Given the description of an element on the screen output the (x, y) to click on. 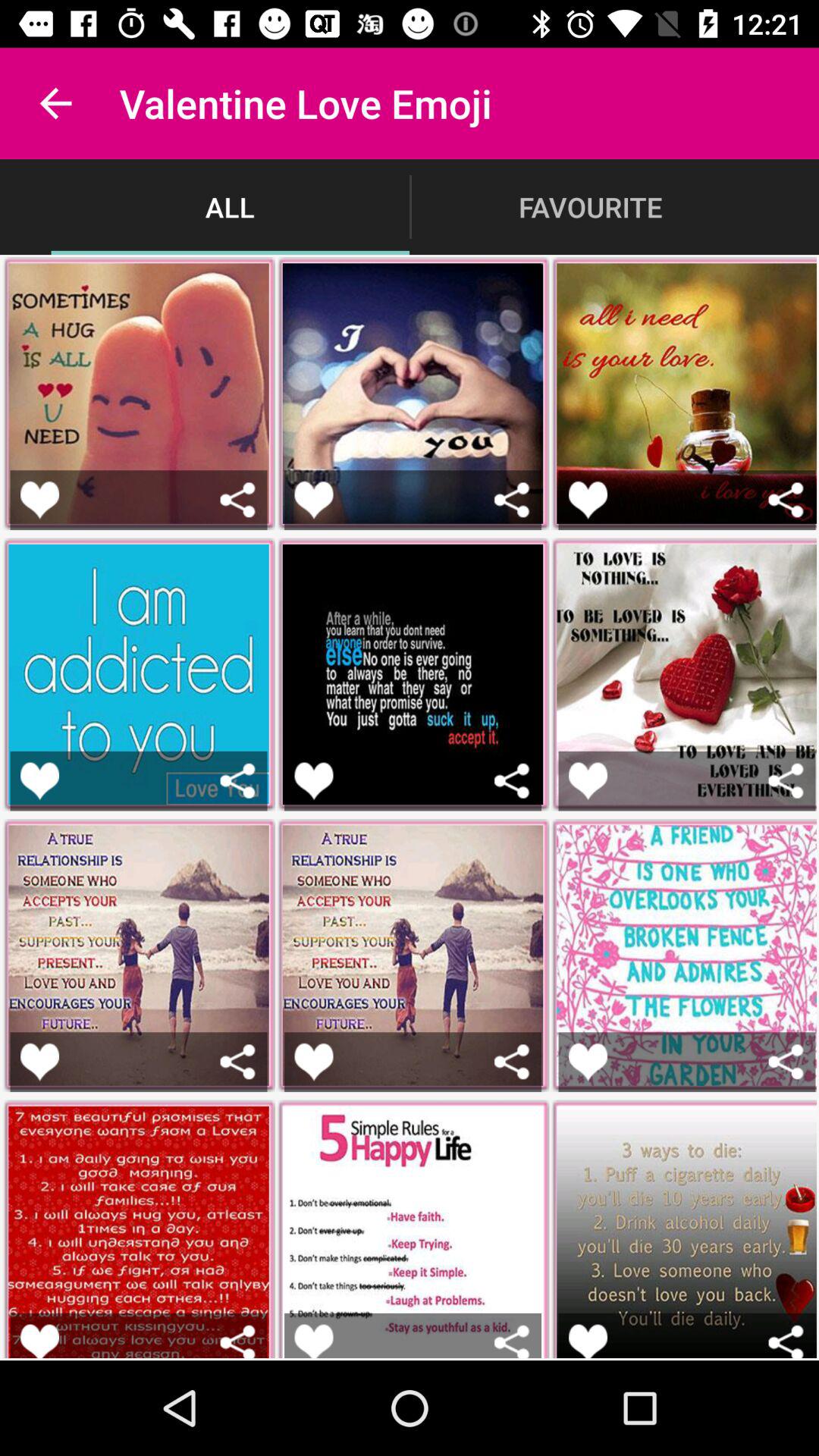
share photo (511, 1340)
